Given the description of an element on the screen output the (x, y) to click on. 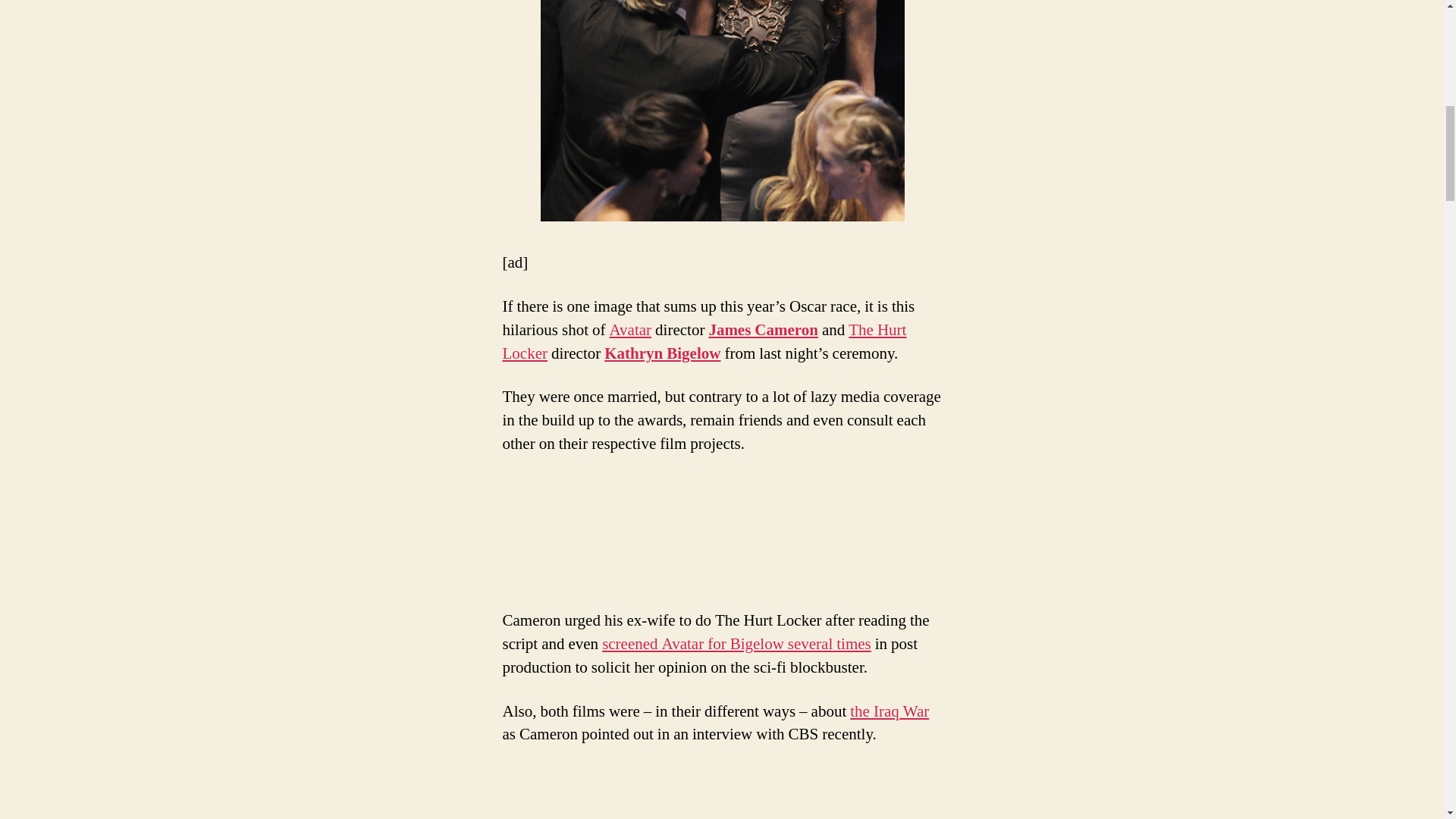
screened Avatar for Bigelow several times (736, 643)
Avatar (631, 330)
The Hurt Locker (703, 341)
James Cameron vs Kathryn Bigelow (722, 110)
the Iraq War (889, 711)
James Cameron (762, 330)
Kathryn Bigelow (662, 353)
